Given the description of an element on the screen output the (x, y) to click on. 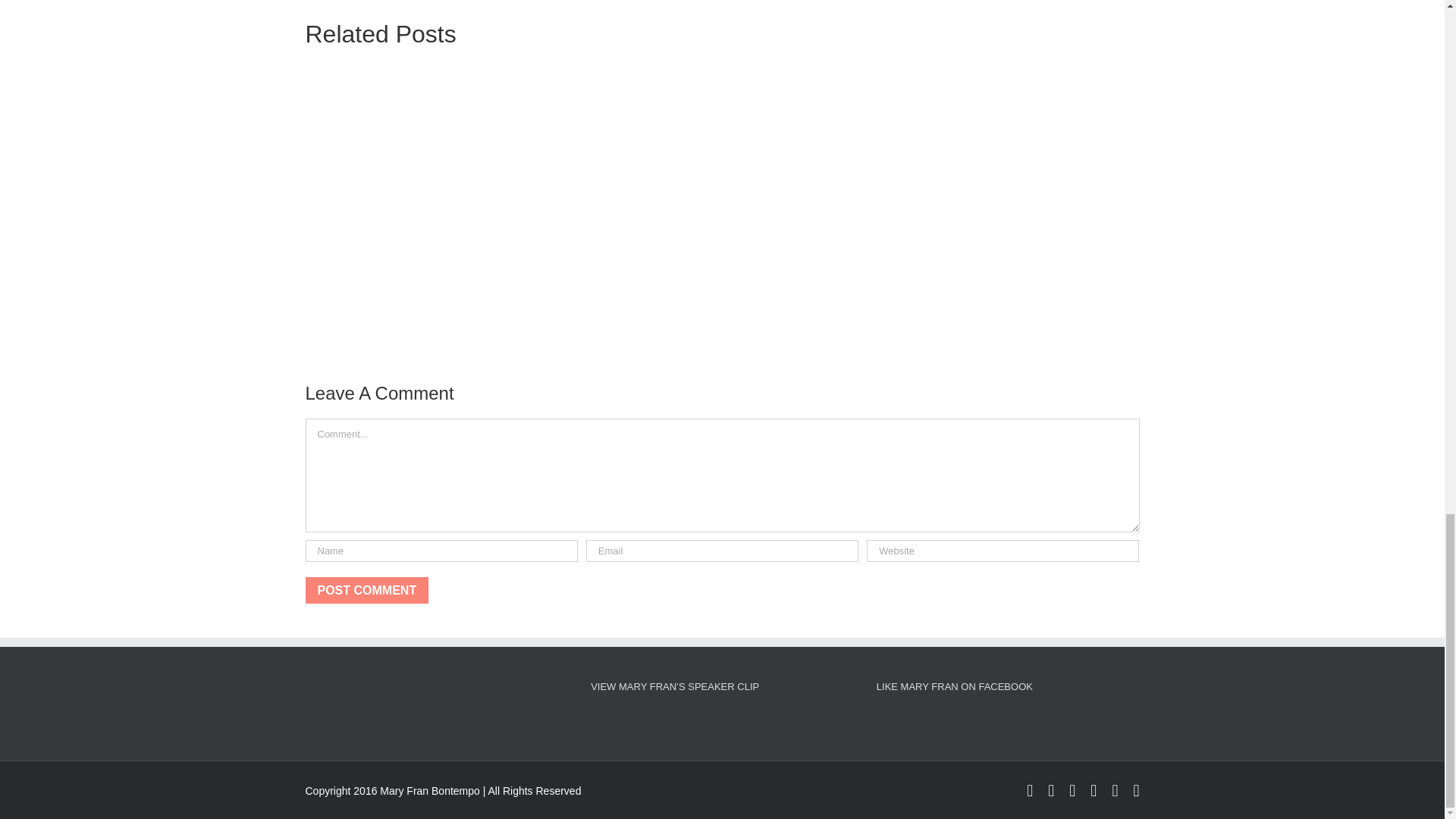
Post Comment (366, 590)
